Given the description of an element on the screen output the (x, y) to click on. 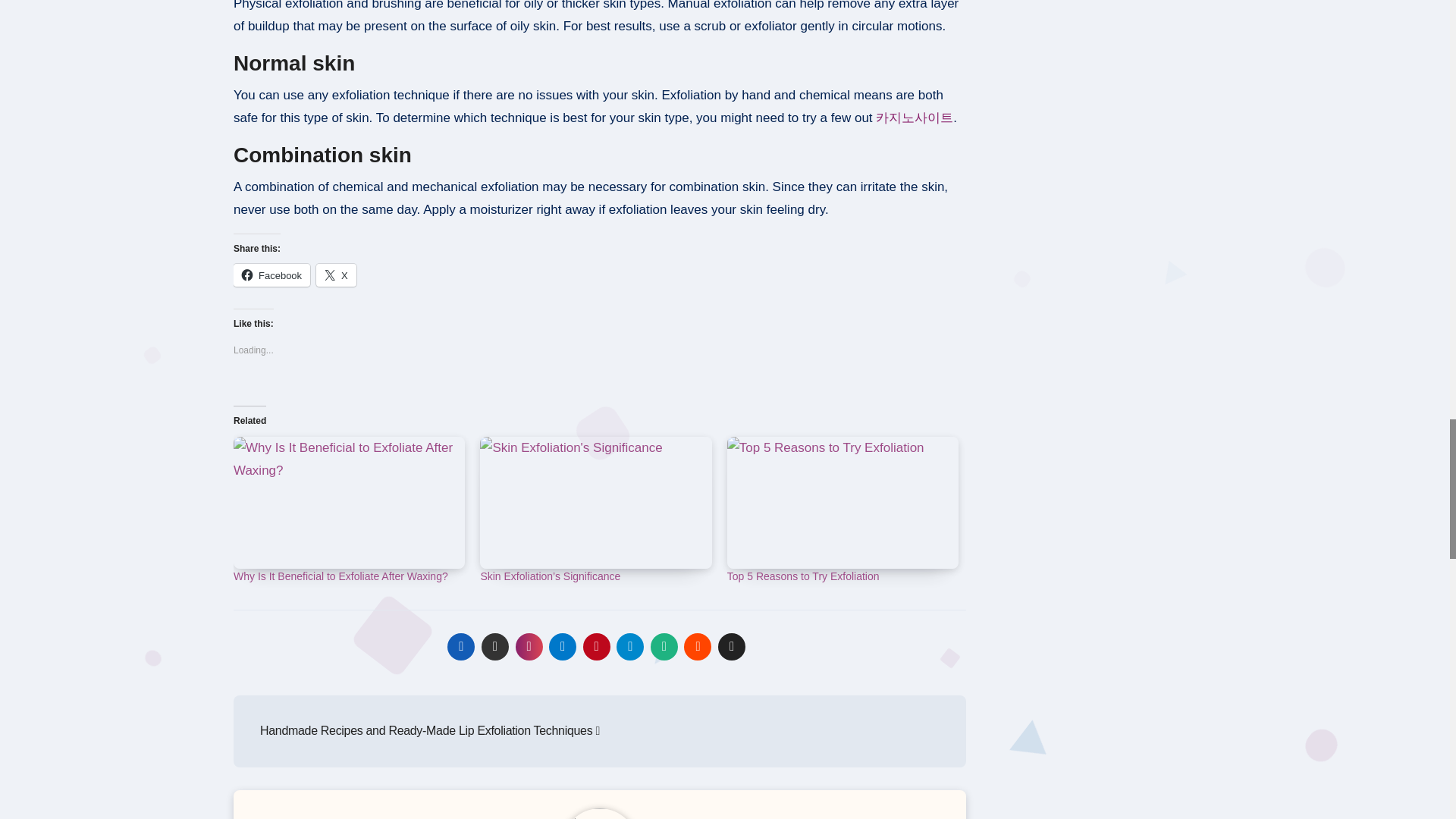
X (335, 274)
Why Is It Beneficial to Exfoliate After Waxing? (348, 502)
Click to share on Facebook (271, 274)
Click to share on X (335, 274)
Facebook (271, 274)
Top 5 Reasons to Try Exfoliation (802, 576)
Top 5 Reasons to Try Exfoliation (802, 576)
Why Is It Beneficial to Exfoliate After Waxing? (340, 576)
Why Is It Beneficial to Exfoliate After Waxing? (340, 576)
Top 5 Reasons to Try Exfoliation (842, 502)
